Given the description of an element on the screen output the (x, y) to click on. 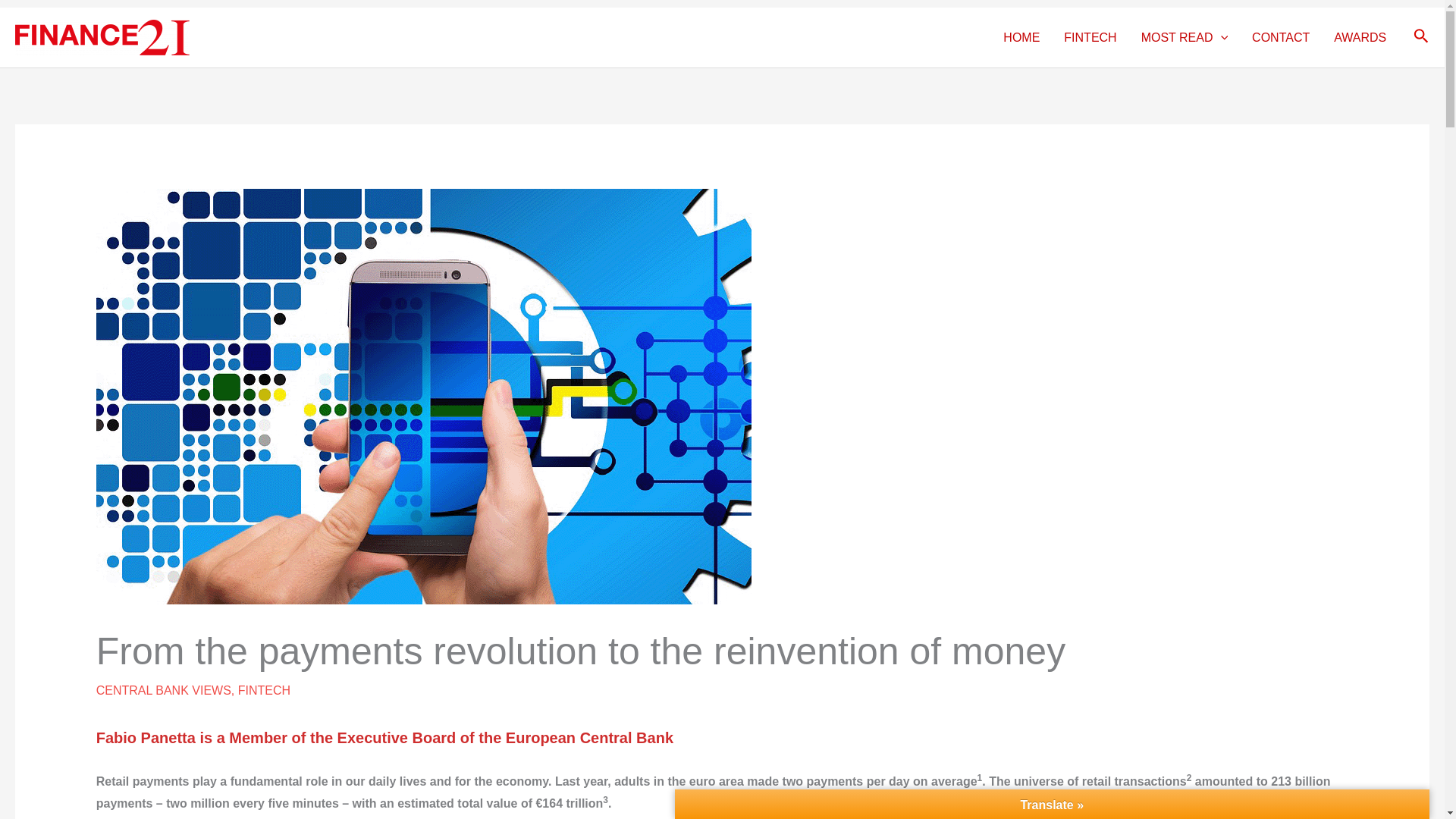
CENTRAL BANK VIEWS (163, 689)
FINTECH (1089, 36)
FINTECH (263, 689)
CONTACT (1281, 36)
HOME (1021, 36)
AWARDS (1359, 36)
MOST READ (1184, 36)
